Given the description of an element on the screen output the (x, y) to click on. 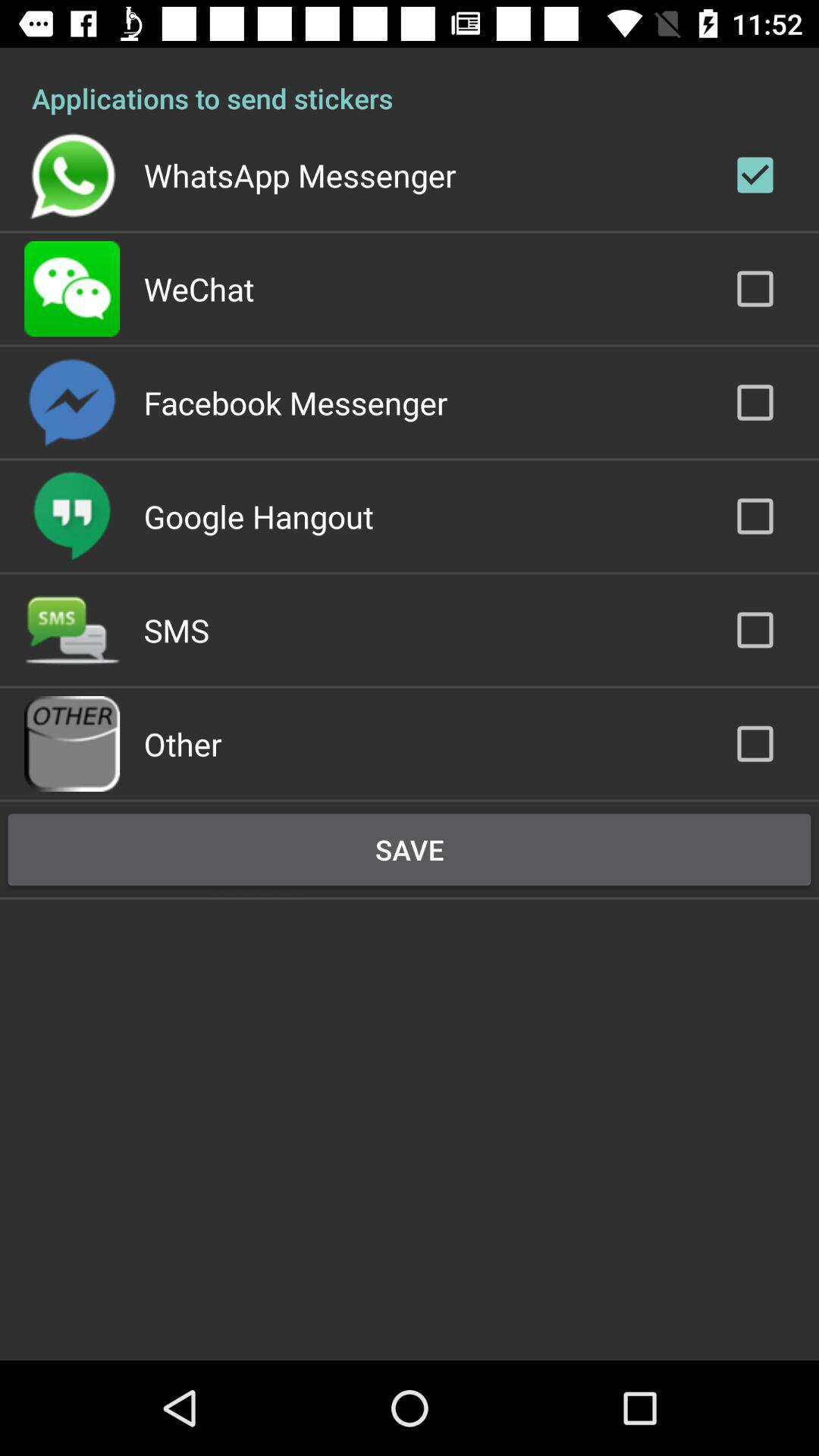
flip until the save button (409, 849)
